Given the description of an element on the screen output the (x, y) to click on. 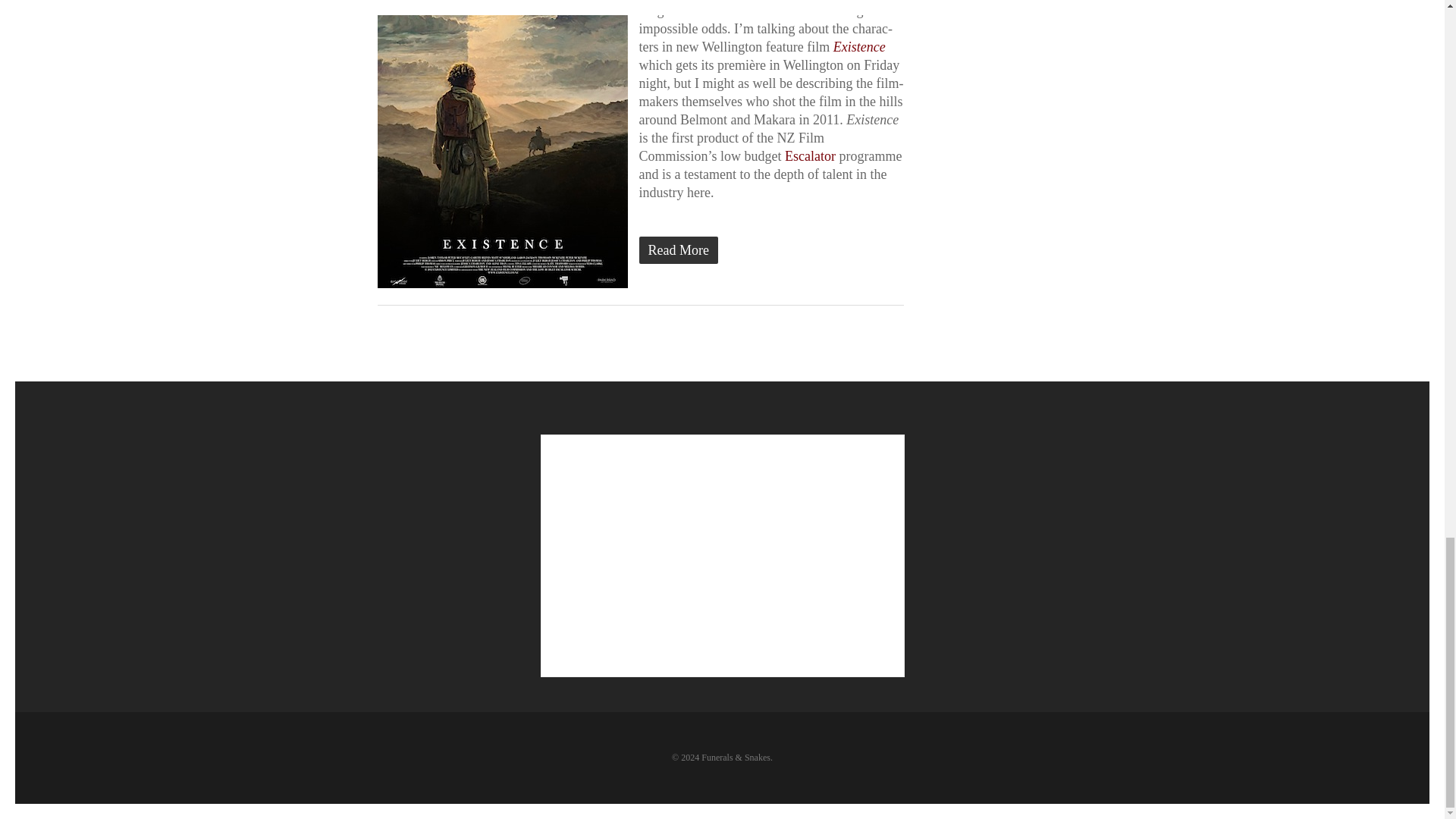
Existence official site (858, 46)
Low budget features at NZ Film Commission (809, 155)
Escalator (809, 155)
Existence (858, 46)
Read More (640, 249)
